Given the description of an element on the screen output the (x, y) to click on. 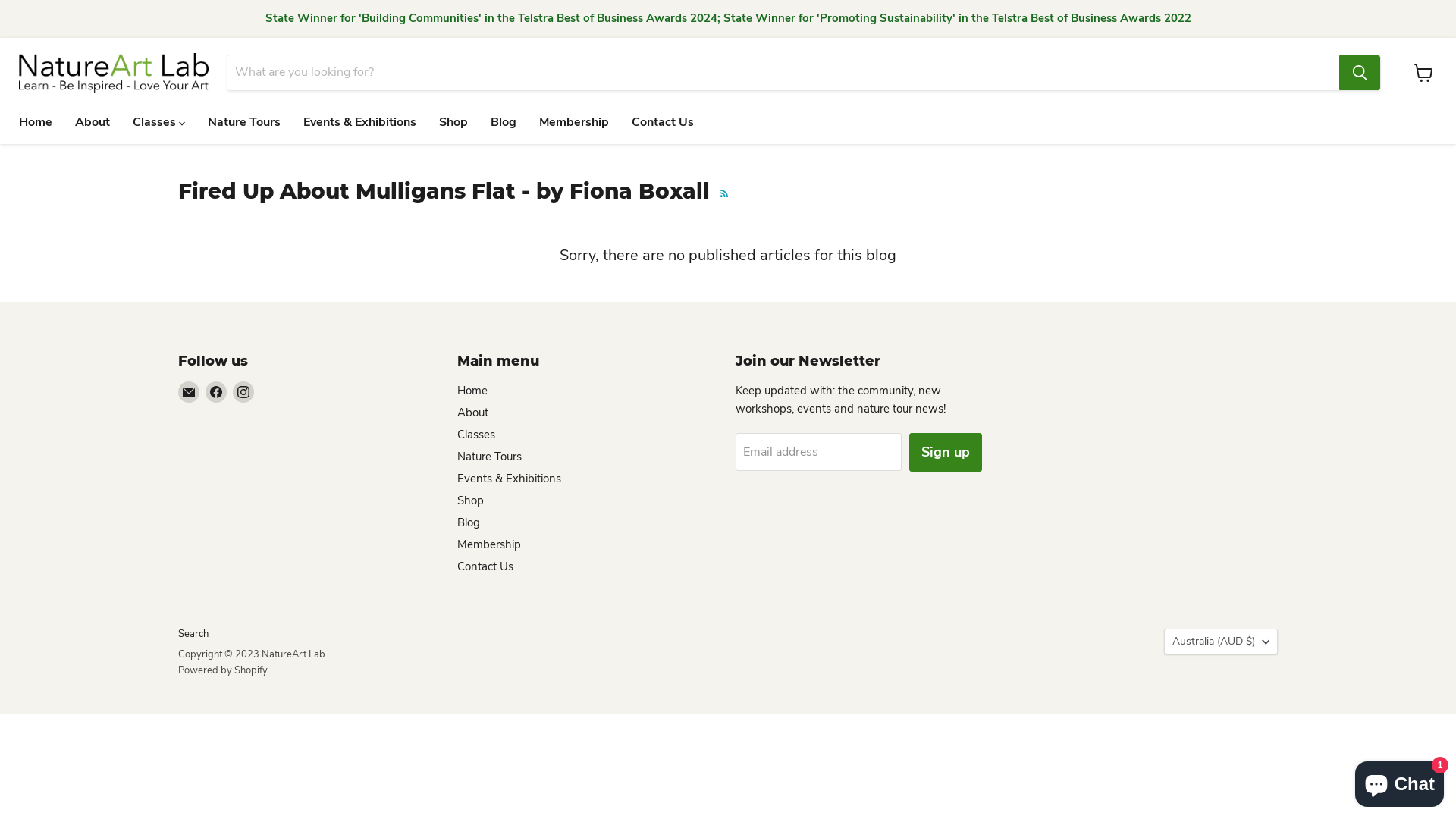
Powered by Shopify Element type: text (222, 670)
About Element type: text (471, 412)
Nature Tours Element type: text (488, 456)
Nature Tours Element type: text (243, 122)
Home Element type: text (471, 390)
View cart Element type: text (1423, 72)
Contact Us Element type: text (484, 566)
Blog Element type: text (503, 122)
Contact Us Element type: text (662, 122)
Shop Element type: text (469, 500)
About Element type: text (92, 122)
Shopify online store chat Element type: hover (1399, 780)
Find us on Instagram Element type: text (243, 391)
Events & Exhibitions Element type: text (508, 478)
Events & Exhibitions Element type: text (359, 122)
Classes Element type: text (475, 434)
RSS Element type: text (723, 193)
Email NatureArt Lab Element type: text (188, 391)
Shop Element type: text (453, 122)
Membership Element type: text (573, 122)
Home Element type: text (35, 122)
Search Element type: text (193, 633)
Blog Element type: text (467, 522)
Membership Element type: text (488, 544)
Australia (AUD $) Element type: text (1220, 641)
Sign up Element type: text (945, 452)
Find us on Facebook Element type: text (215, 391)
